Given the description of an element on the screen output the (x, y) to click on. 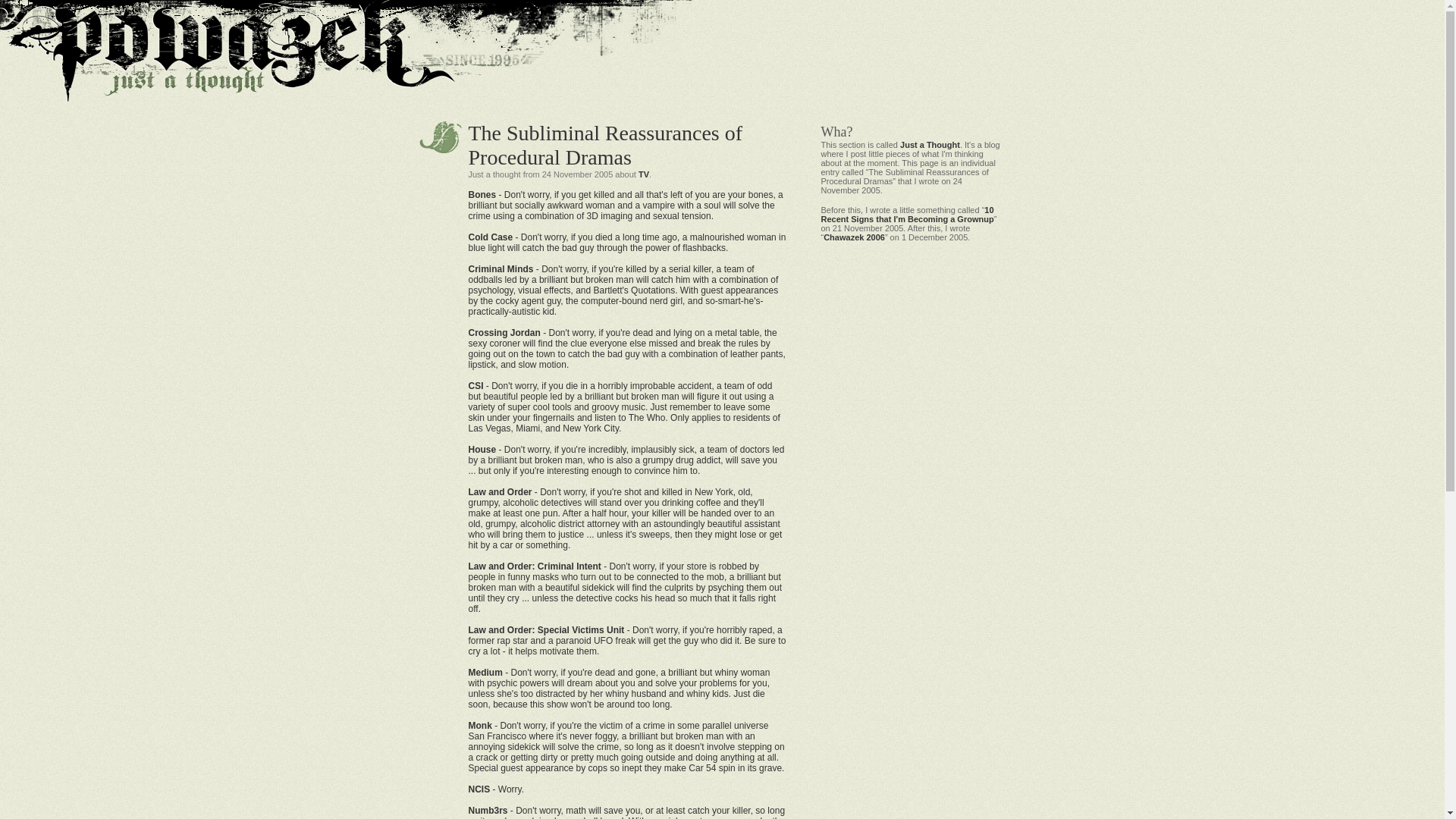
CSI (475, 385)
10 Recent Signs that I'm Becoming a Grownup (906, 214)
Law and Order (500, 491)
Back to Powazek home (208, 64)
Bones (482, 194)
Criminal Minds (501, 268)
Law and Order: Special Victims Unit (546, 629)
Back to Just a Thought main (929, 144)
NCIS (479, 788)
More thoughts about TV (644, 174)
